Given the description of an element on the screen output the (x, y) to click on. 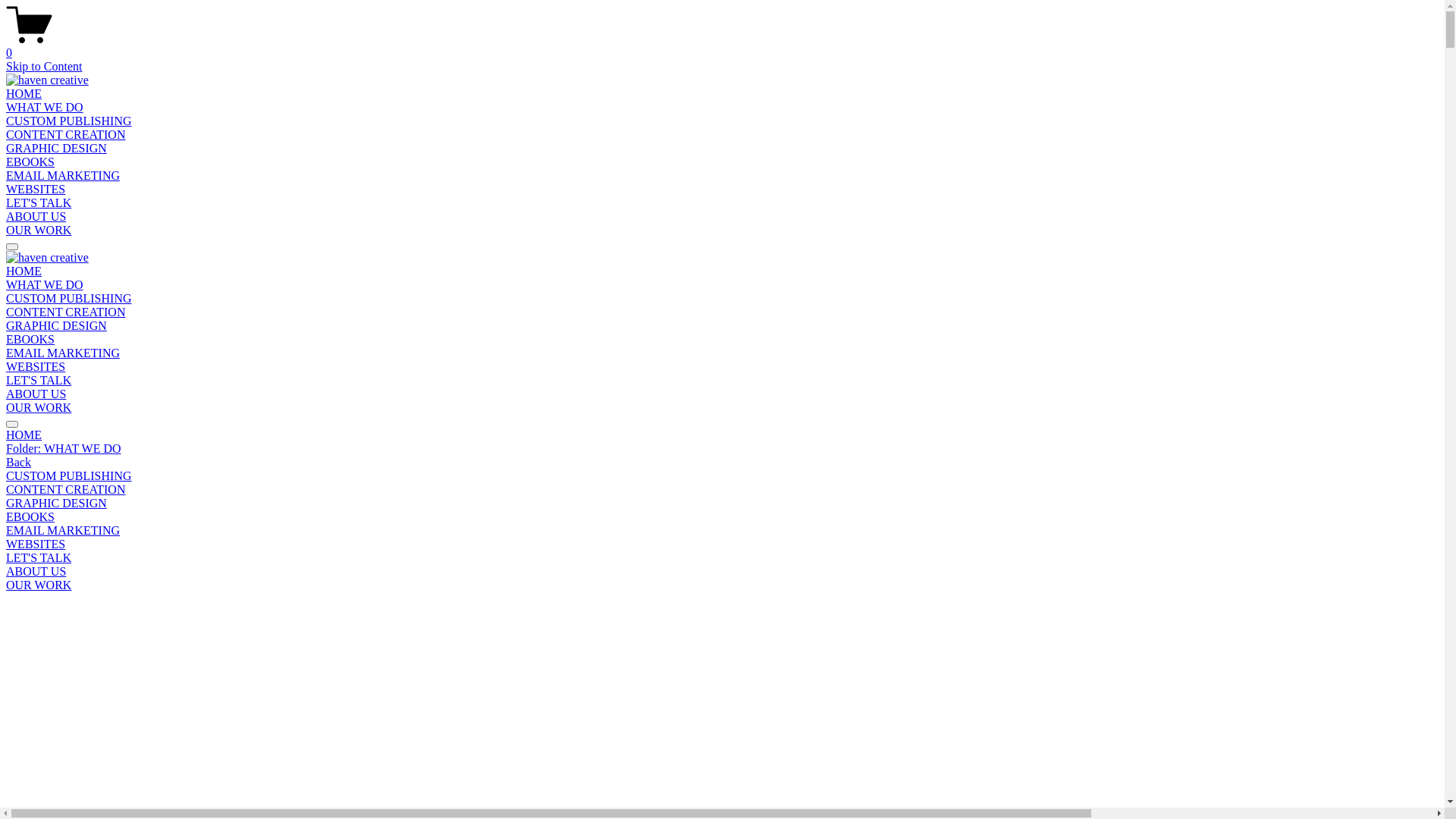
OUR WORK Element type: text (722, 585)
GRAPHIC DESIGN Element type: text (722, 503)
ABOUT US Element type: text (722, 571)
EBOOKS Element type: text (722, 517)
EMAIL MARKETING Element type: text (62, 352)
CUSTOM PUBLISHING Element type: text (722, 476)
EBOOKS Element type: text (30, 161)
WEBSITES Element type: text (722, 544)
WHAT WE DO Element type: text (44, 106)
OUR WORK Element type: text (38, 229)
GRAPHIC DESIGN Element type: text (56, 325)
0 Element type: text (722, 45)
EMAIL MARKETING Element type: text (62, 175)
WEBSITES Element type: text (35, 188)
WHAT WE DO Element type: text (44, 284)
Skip to Content Element type: text (43, 65)
HOME Element type: text (722, 435)
Back Element type: text (18, 461)
LET'S TALK Element type: text (38, 379)
OUR WORK Element type: text (38, 407)
CUSTOM PUBLISHING Element type: text (68, 120)
LET'S TALK Element type: text (38, 202)
CUSTOM PUBLISHING Element type: text (68, 297)
Folder: WHAT WE DO Element type: text (722, 448)
GRAPHIC DESIGN Element type: text (56, 147)
HOME Element type: text (23, 93)
LET'S TALK Element type: text (722, 557)
CONTENT CREATION Element type: text (722, 489)
ABOUT US Element type: text (35, 216)
CONTENT CREATION Element type: text (65, 134)
WEBSITES Element type: text (35, 366)
CONTENT CREATION Element type: text (65, 311)
EMAIL MARKETING Element type: text (722, 530)
EBOOKS Element type: text (30, 338)
HOME Element type: text (23, 270)
ABOUT US Element type: text (35, 393)
